Given the description of an element on the screen output the (x, y) to click on. 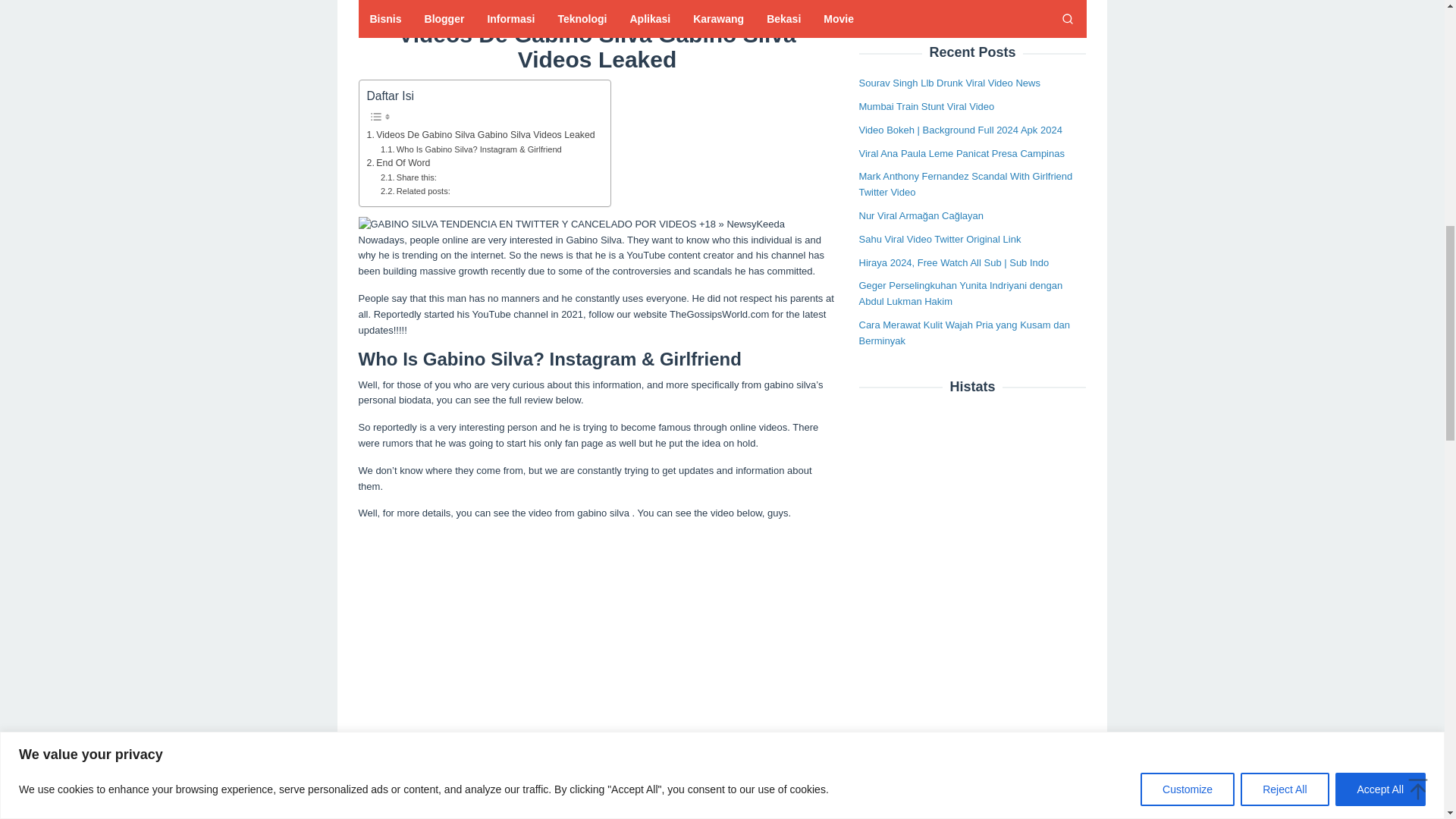
End Of Word (398, 163)
Cek Spesifikasi Juga Harga Smartphone Xiaomi 12 Series (515, 5)
Share this: (408, 178)
Videos De Gabino Silva Gabino Silva Videos Leaked (480, 135)
Related posts: (414, 192)
Videos De Gabino Silva Gabino Silva Videos Leaked (480, 135)
